Given the description of an element on the screen output the (x, y) to click on. 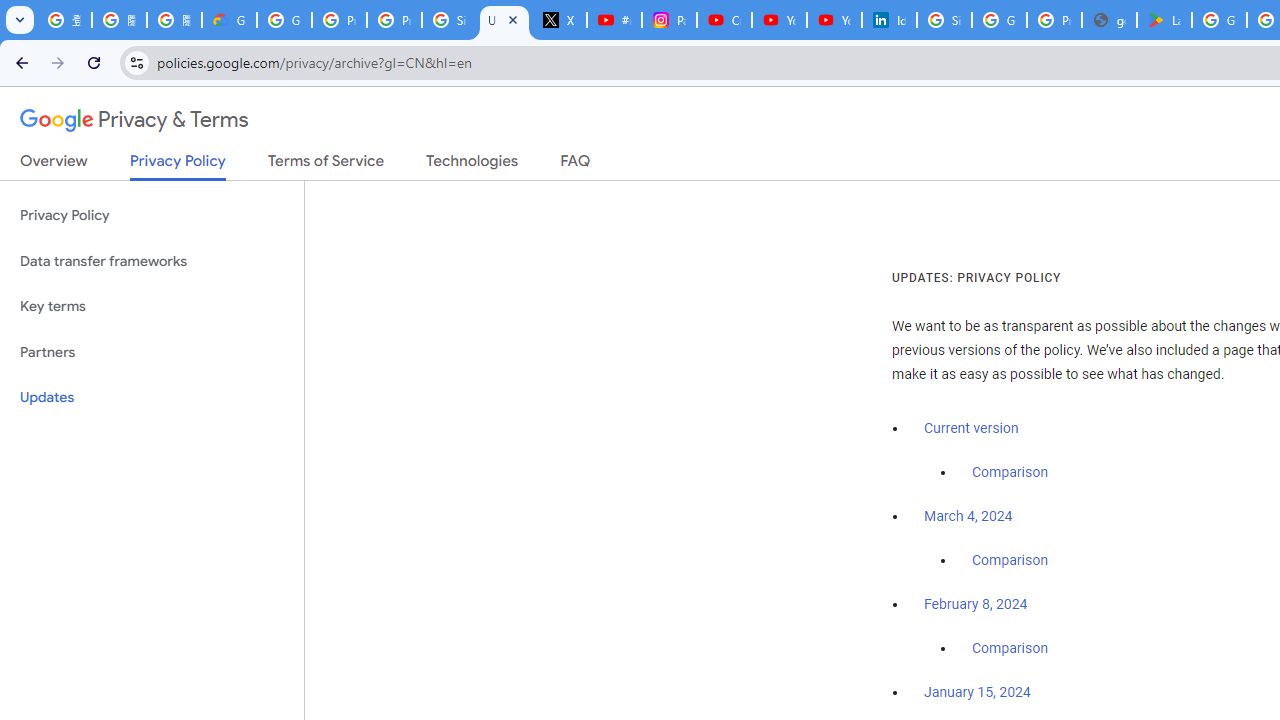
February 8, 2024 (975, 605)
Google Cloud Privacy Notice (229, 20)
Sign in - Google Accounts (449, 20)
January 15, 2024 (977, 693)
#nbabasketballhighlights - YouTube (614, 20)
X (559, 20)
